Given the description of an element on the screen output the (x, y) to click on. 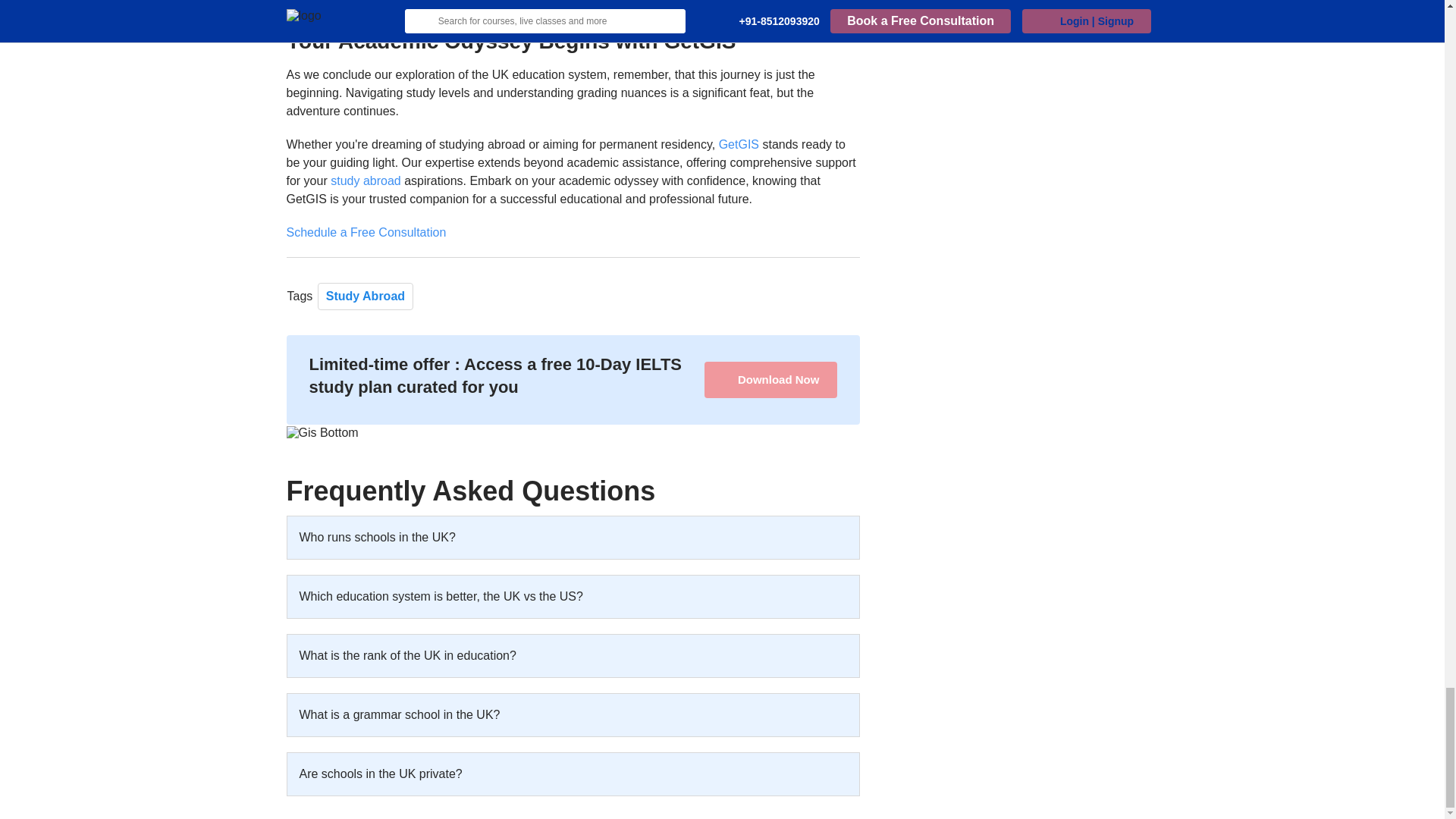
Download Now (770, 379)
Study Abroad (365, 296)
study abroad (365, 180)
Schedule a Free Consultation (366, 232)
GetGIS (738, 144)
